Given the description of an element on the screen output the (x, y) to click on. 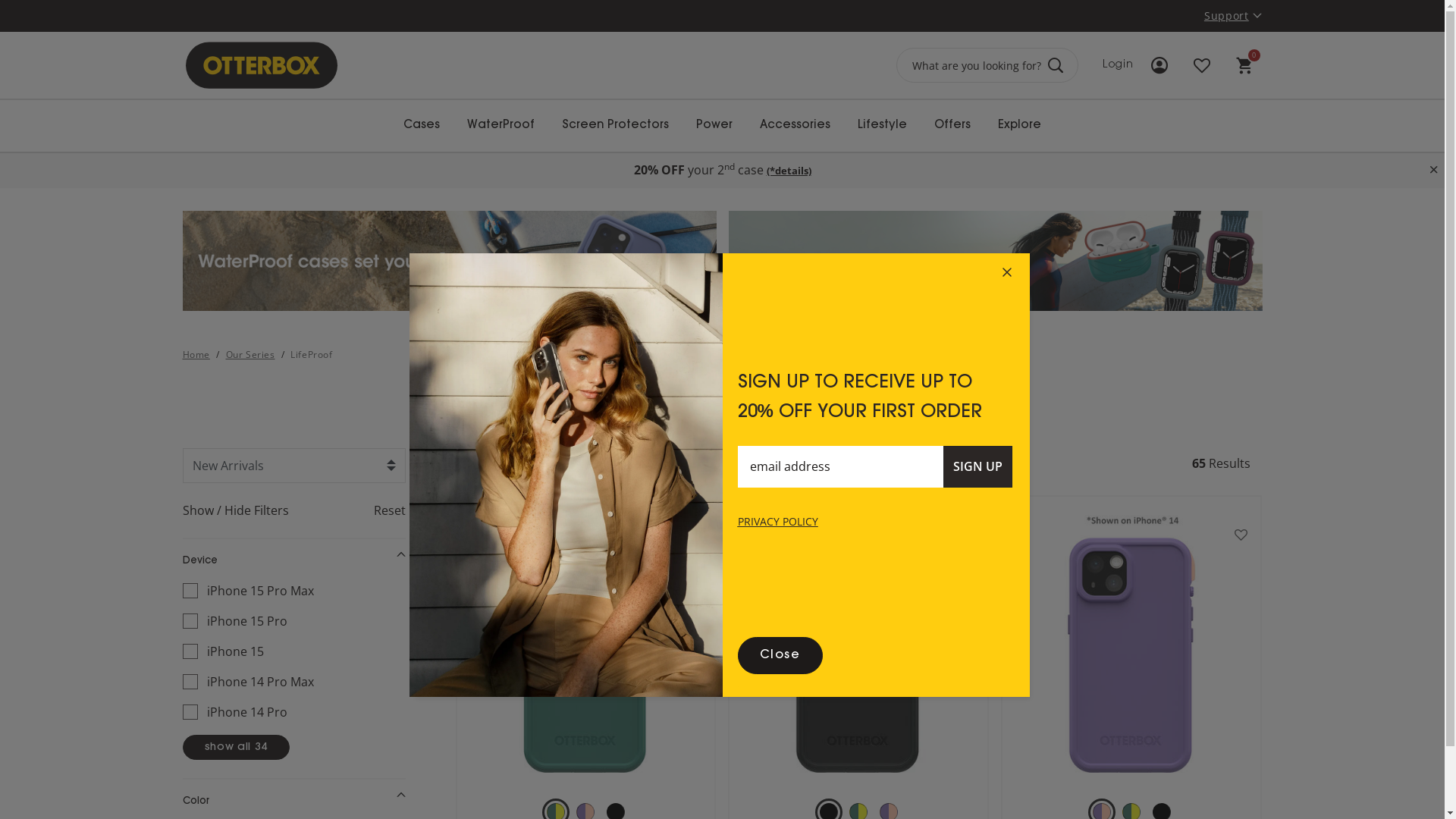
iPhone 14 Pro
Refine by Device: iPhone 14 Pro Element type: text (287, 711)
WaterProof Element type: text (500, 125)
Lifestyle Element type: text (882, 125)
show all 34 Element type: text (235, 746)
iPhone 15 Pro
Refine by Device: iPhone 15 Pro Element type: text (287, 620)
Close Element type: text (779, 655)
0 Element type: text (1243, 65)
Show / Hide Filters Element type: text (256, 510)
Screen Protectors Element type: text (615, 125)
iPhone 14 Pro Max
Refine by Device: iPhone 14 Pro Max Element type: text (287, 681)
Explore Element type: text (1019, 125)
OtterBox Australia logo - Home Element type: text (260, 64)
SIGN UP Element type: text (977, 466)
Login Element type: text (1140, 47)
Device Element type: text (293, 561)
Home Element type: text (195, 354)
iPhone 15 Pro Max
Refine by Device: iPhone 15 Pro Max Element type: text (287, 590)
Offers Element type: text (952, 125)
Accessories Element type: text (795, 125)
Our Series Element type: text (250, 354)
Cases Element type: text (421, 125)
PRIVACY POLICY Element type: text (777, 521)
Login Element type: text (1119, 64)
Explore Sustainably styled wearables Element type: hover (994, 260)
Wishlist Element type: hover (1201, 65)
Reset Element type: text (368, 510)
Power Element type: text (714, 125)
iPhone 15
Refine by Device: iPhone 15 Element type: text (287, 650)
